Given the description of an element on the screen output the (x, y) to click on. 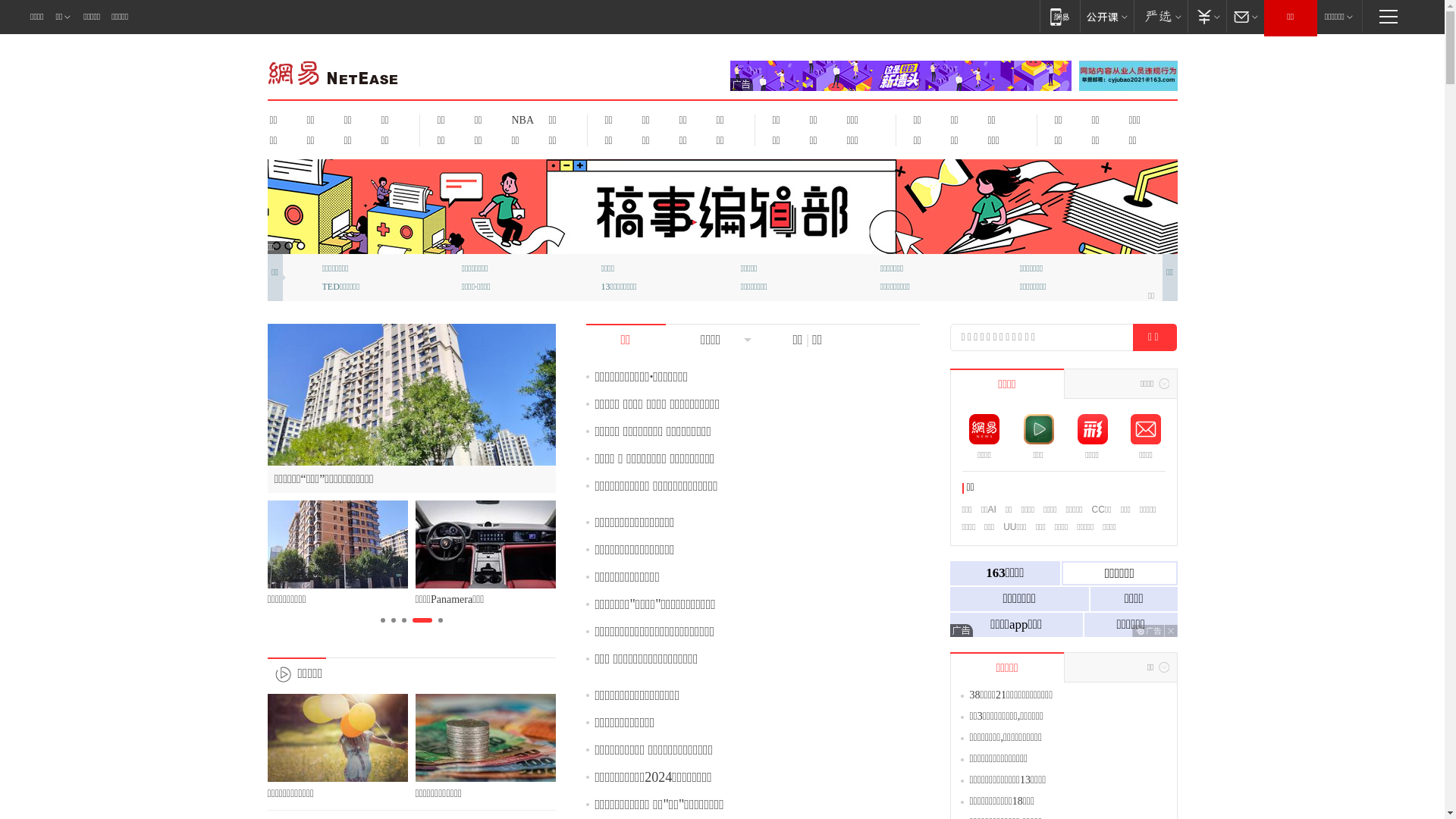
NBA Element type: text (520, 119)
